Given the description of an element on the screen output the (x, y) to click on. 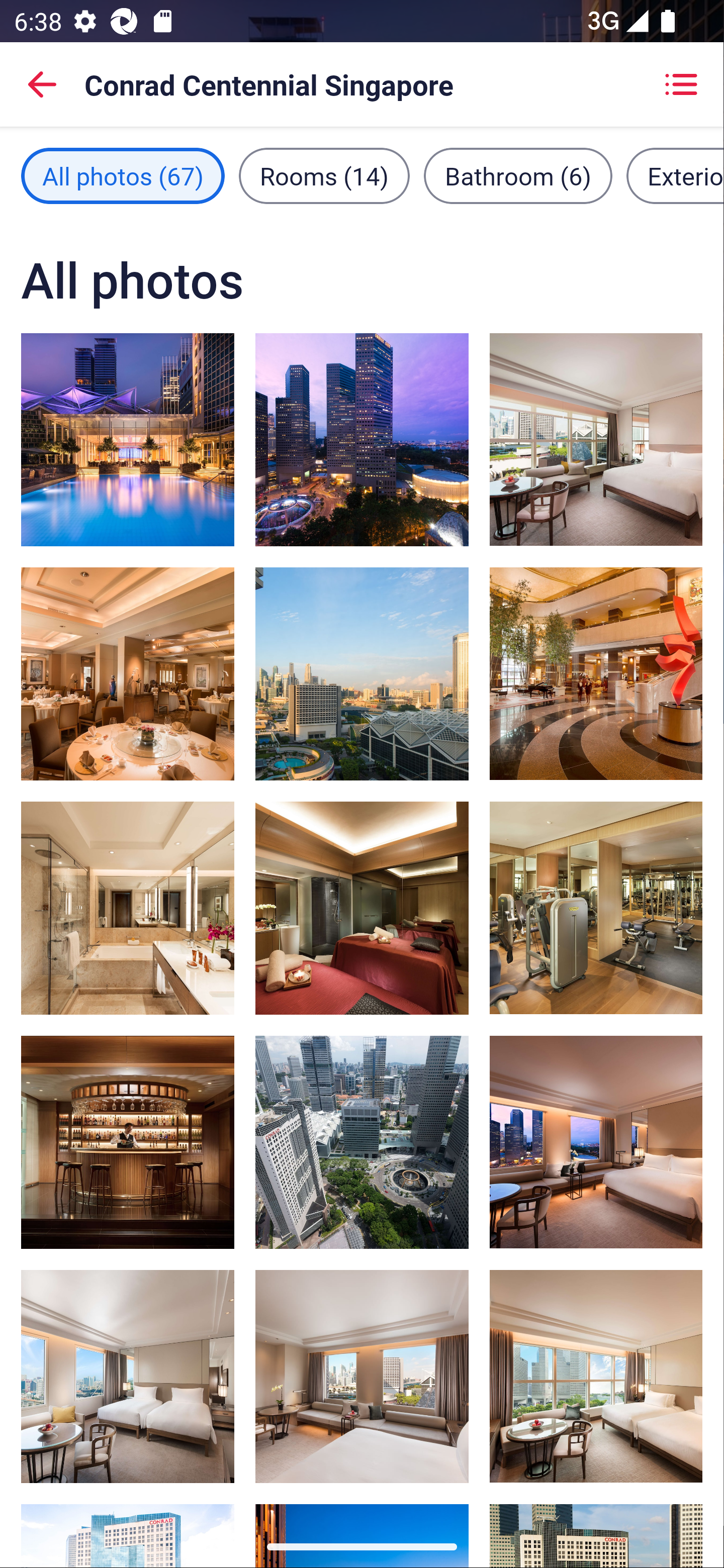
Back (42, 84)
Showing grid view (681, 84)
All photos filter, 67 images (122, 175)
Rooms filter, 14 images (323, 175)
Bathroom filter, 6 images (517, 175)
Exterior filter, 9 images (674, 175)
View from room, image (361, 438)
TV, image (595, 438)
Premium Room, 1 King Bed | City view, image (361, 673)
Lobby, image (595, 673)
Fitness facility, image (595, 907)
Executive lounge, image (127, 1142)
Exterior, image (361, 1142)
TV, image (127, 1376)
TV, image (595, 1376)
